Given the description of an element on the screen output the (x, y) to click on. 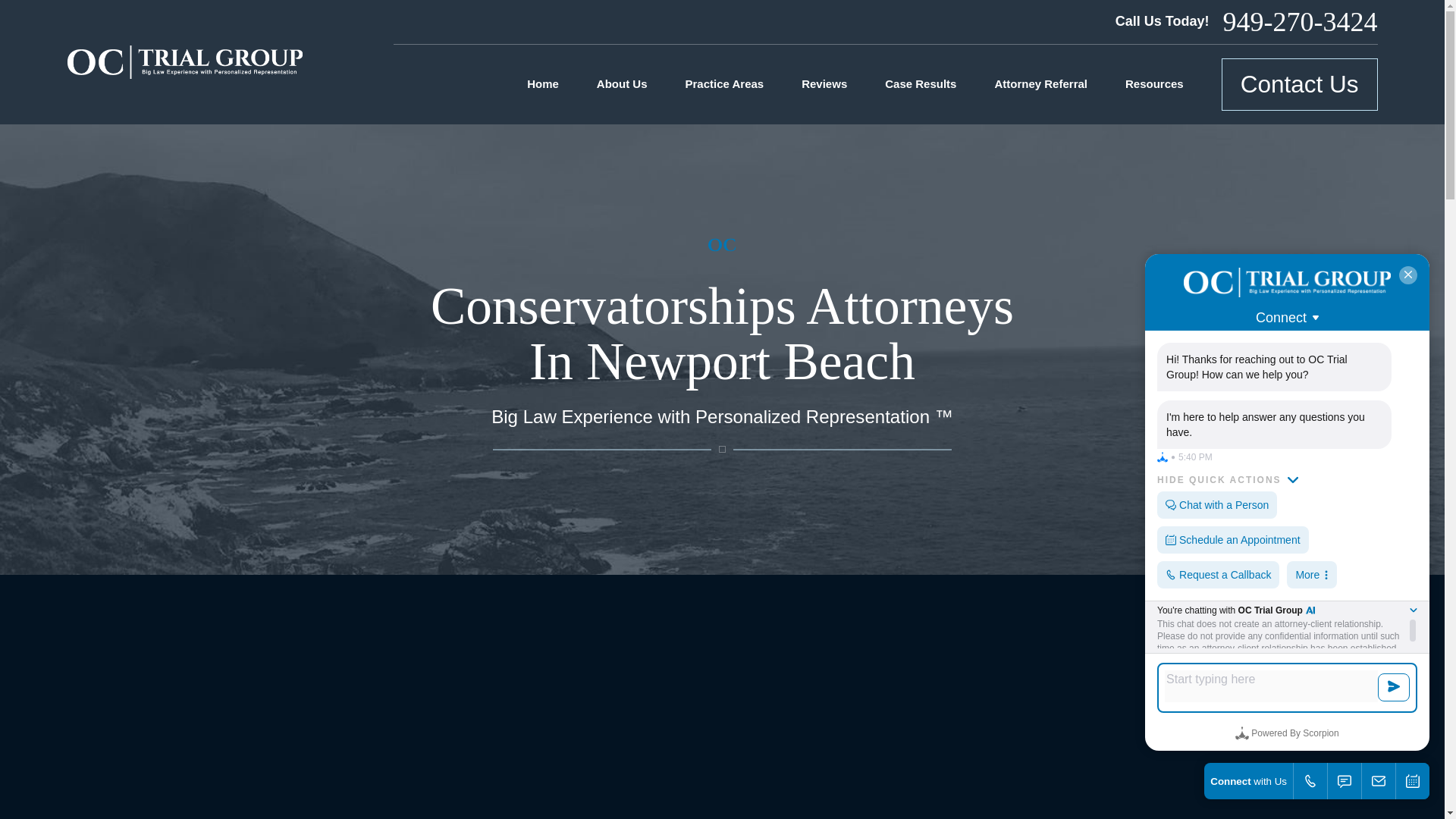
Home (183, 61)
OC Trial Group (183, 61)
Case Results (920, 84)
949-270-3424 (1300, 22)
Resources (1154, 84)
Attorney Referral (1040, 84)
About Us (621, 84)
Practice Areas (724, 84)
